Given the description of an element on the screen output the (x, y) to click on. 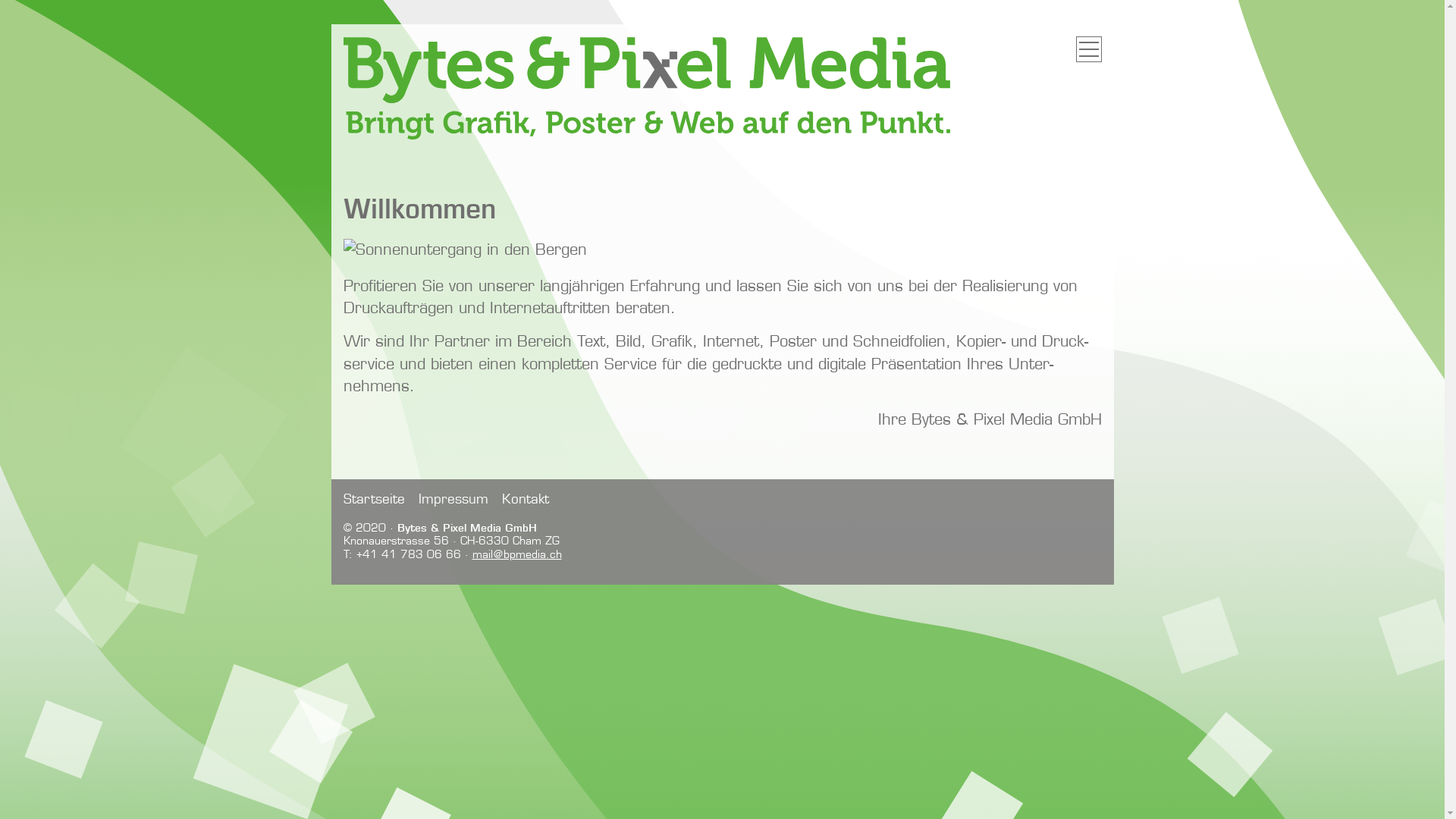
Kontakt Element type: text (525, 498)
Zur Startseite Element type: hover (645, 134)
Impressum Element type: text (453, 498)
mail@bpmedia.ch Element type: text (516, 554)
Startseite Element type: text (373, 498)
